Given the description of an element on the screen output the (x, y) to click on. 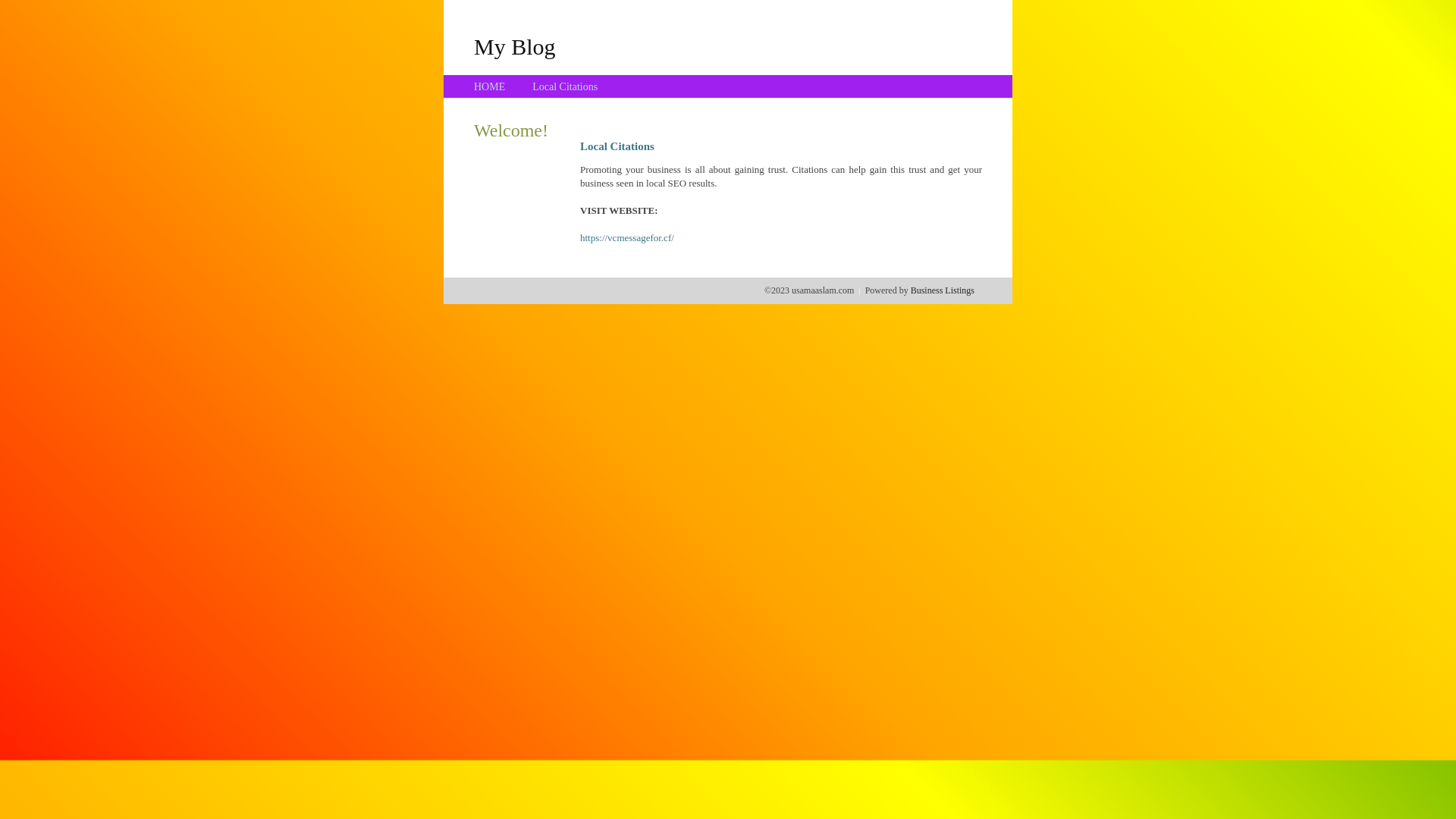
HOME Element type: text (489, 86)
My Blog Element type: text (514, 46)
https://vcmessagefor.cf/ Element type: text (627, 237)
Local Citations Element type: text (564, 86)
Business Listings Element type: text (942, 290)
